Given the description of an element on the screen output the (x, y) to click on. 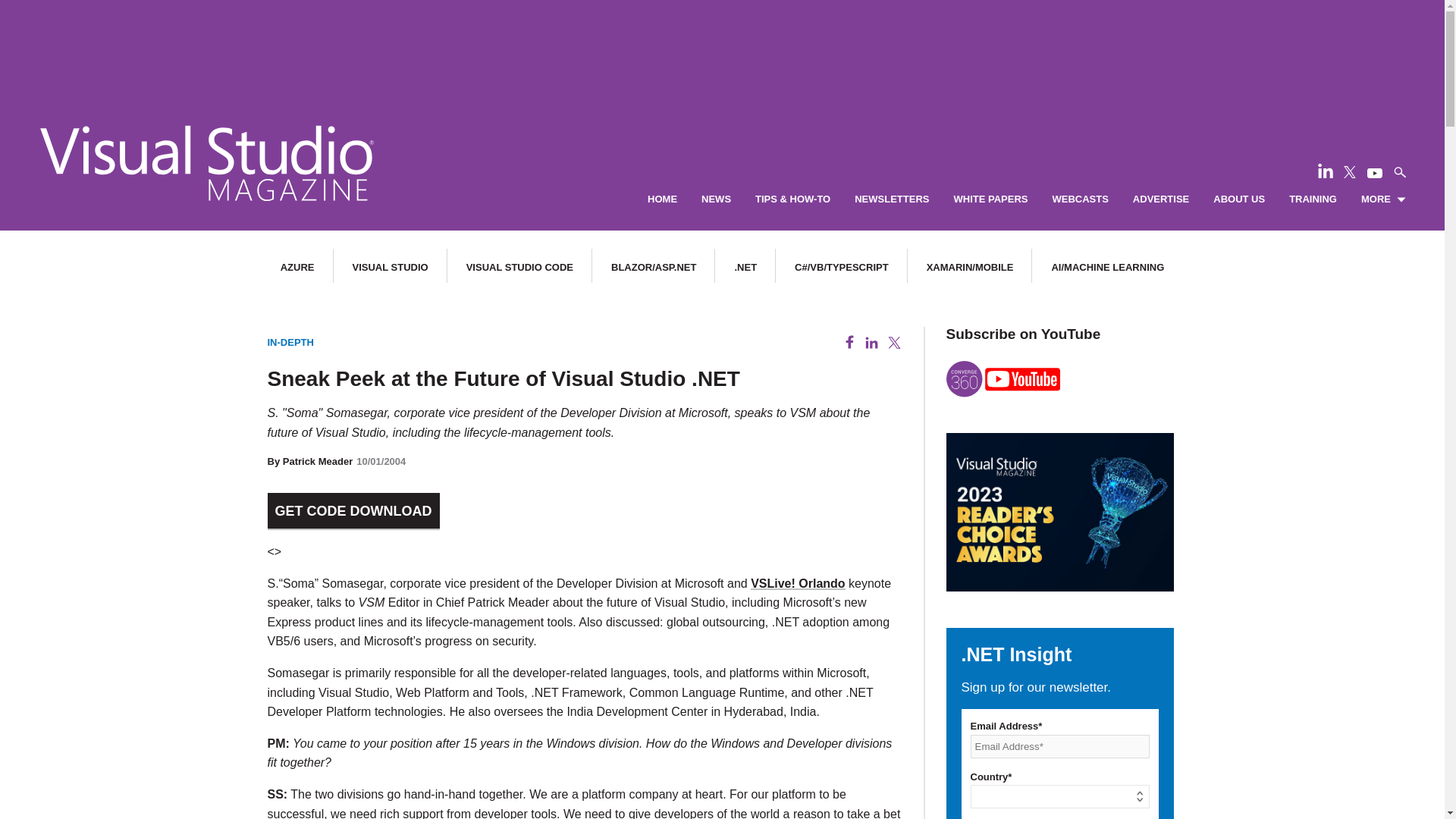
WEBCASTS (1079, 199)
VISUAL STUDIO (390, 266)
ADVERTISE (1160, 199)
HOME (662, 199)
WHITE PAPERS (990, 199)
3rd party ad content (721, 45)
NEWS (715, 199)
AZURE (297, 266)
TRAINING (1312, 199)
ABOUT US (1238, 199)
